Given the description of an element on the screen output the (x, y) to click on. 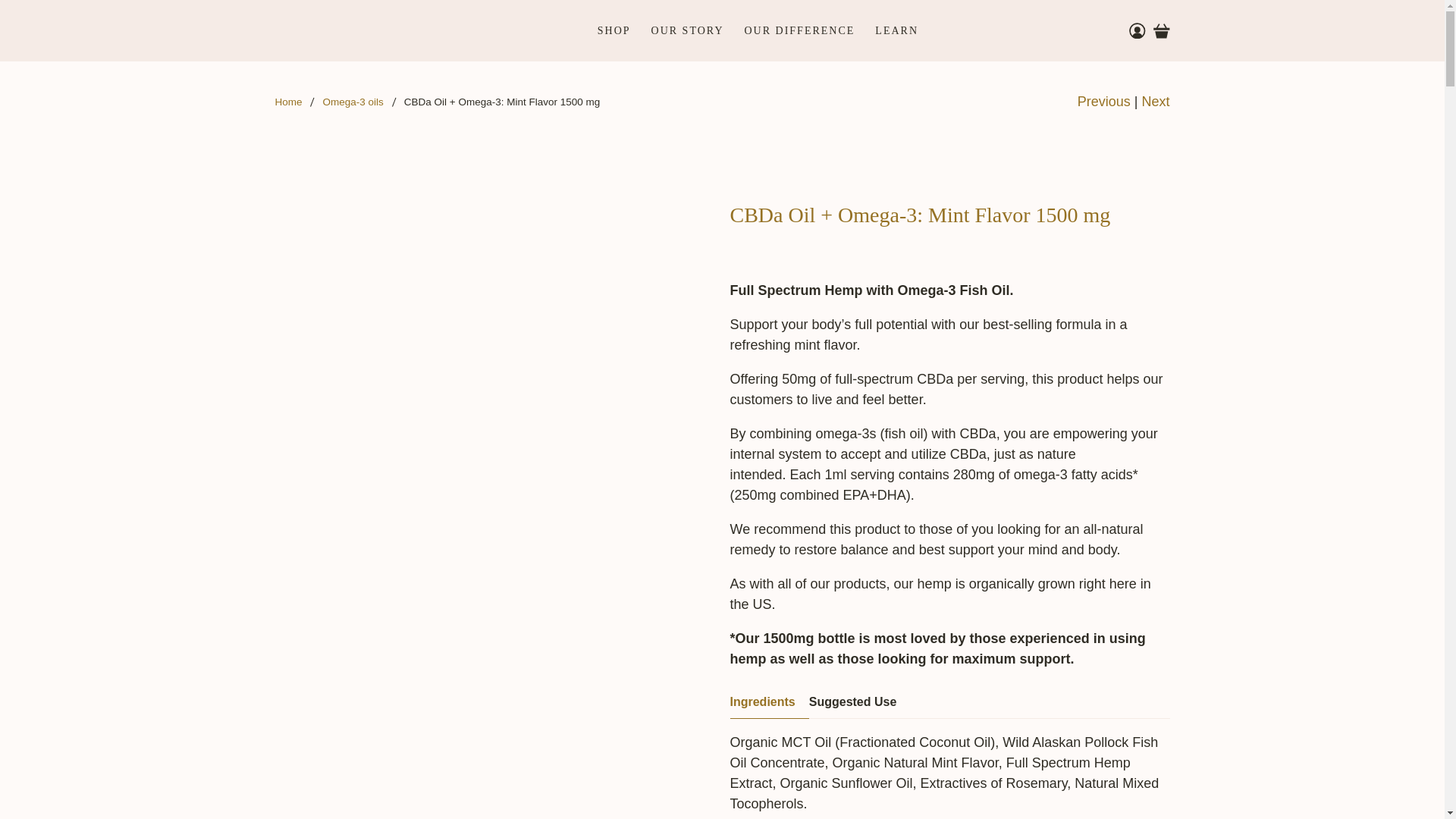
OUR STORY (686, 30)
LEARN (896, 30)
Ingredients (768, 702)
Next (1155, 101)
Pure Fin (288, 102)
Next (1155, 101)
Home (288, 102)
Previous (1104, 101)
Omega-3 oils (353, 102)
SHOP (613, 30)
